Given the description of an element on the screen output the (x, y) to click on. 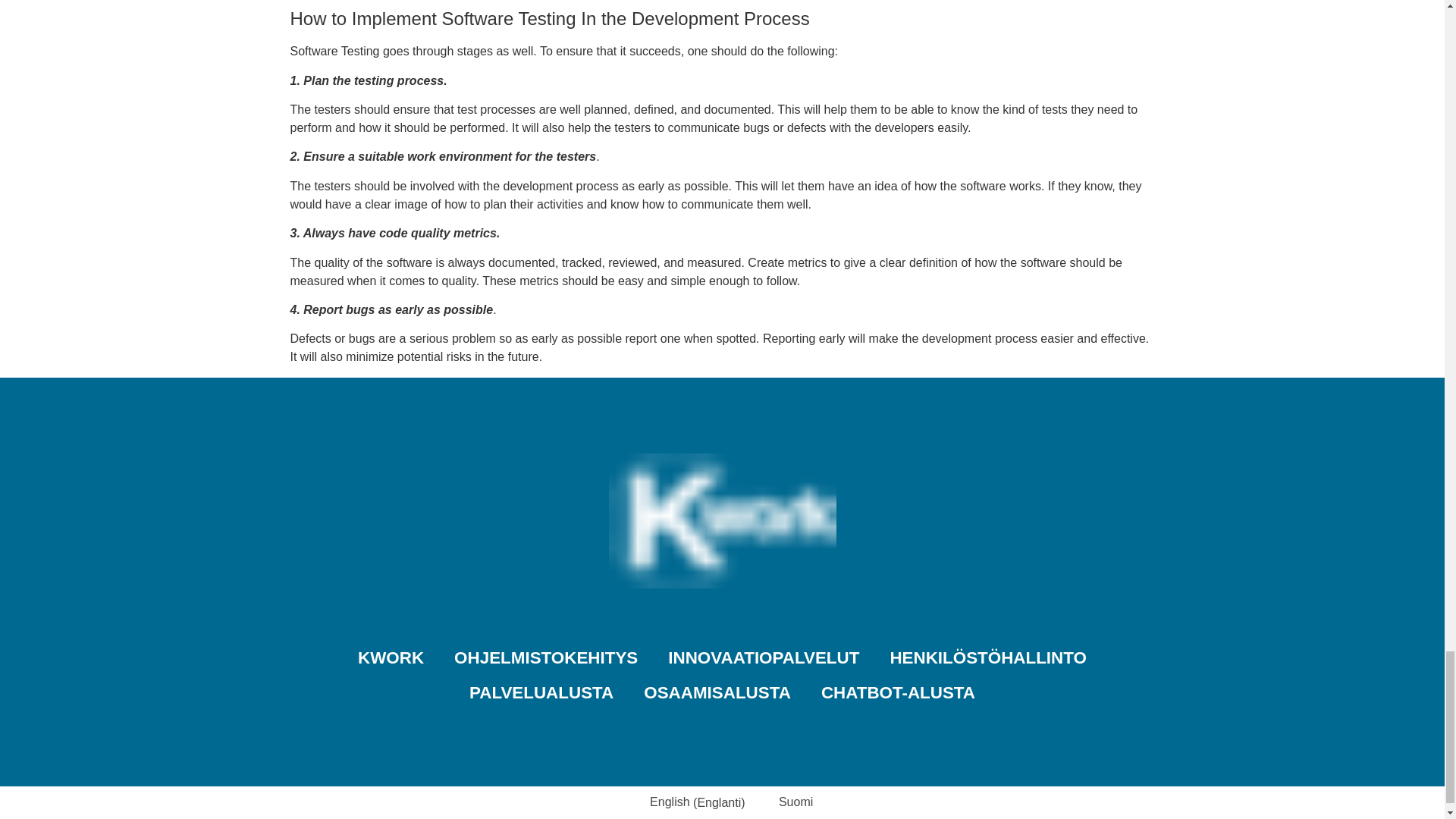
OHJELMISTOKEHITYS (545, 657)
OSAAMISALUSTA (717, 692)
KWORK (390, 657)
PALVELUALUSTA (541, 692)
Suomi (786, 803)
CHATBOT-ALUSTA (898, 692)
INNOVAATIOPALVELUT (763, 657)
